Given the description of an element on the screen output the (x, y) to click on. 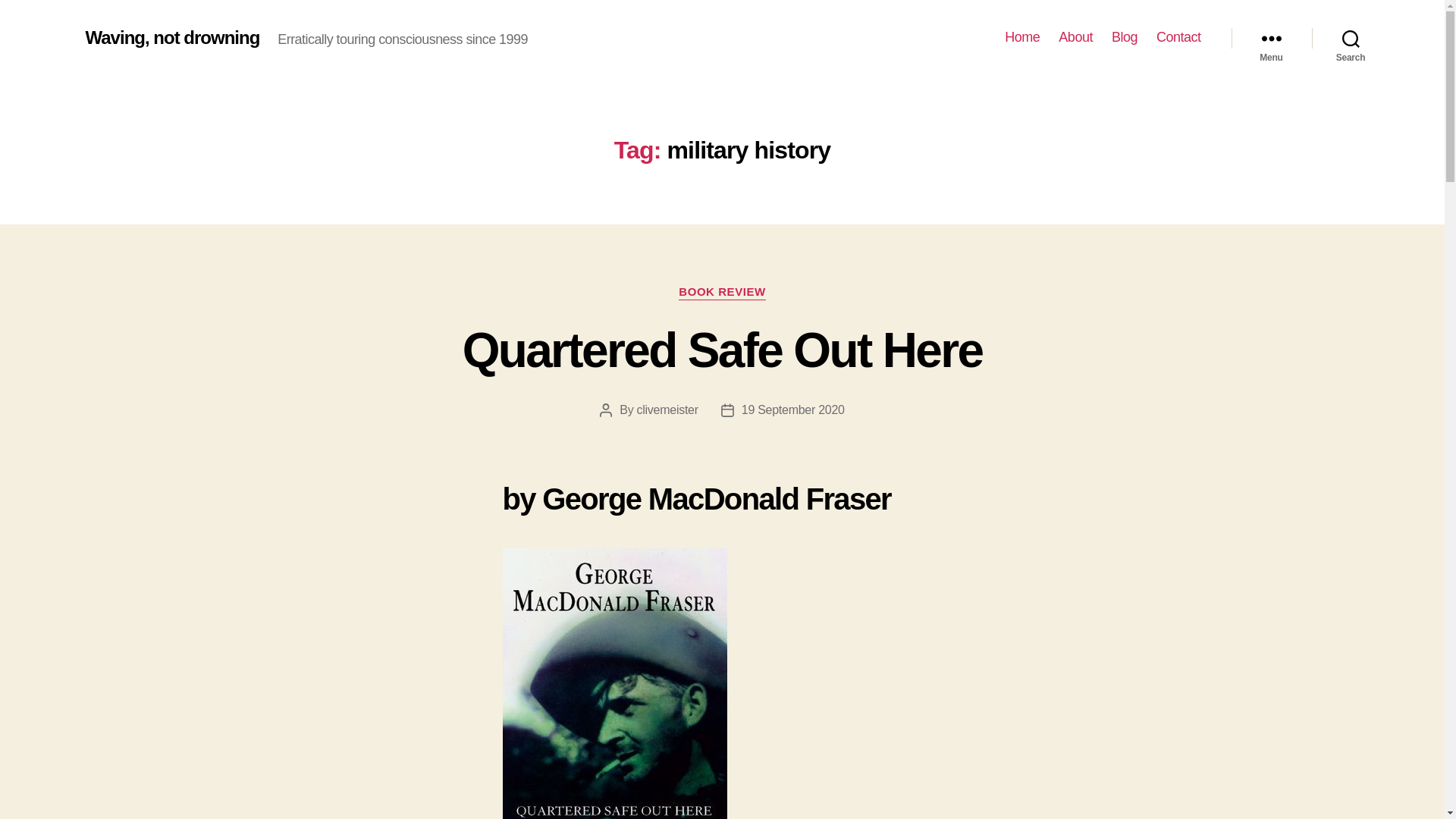
19 September 2020 (792, 409)
BOOK REVIEW (721, 292)
Waving, not drowning (171, 37)
Search (1350, 37)
Quartered Safe Out Here (722, 349)
Blog (1124, 37)
Menu (1271, 37)
About (1075, 37)
Contact (1178, 37)
clivemeister (667, 409)
